Given the description of an element on the screen output the (x, y) to click on. 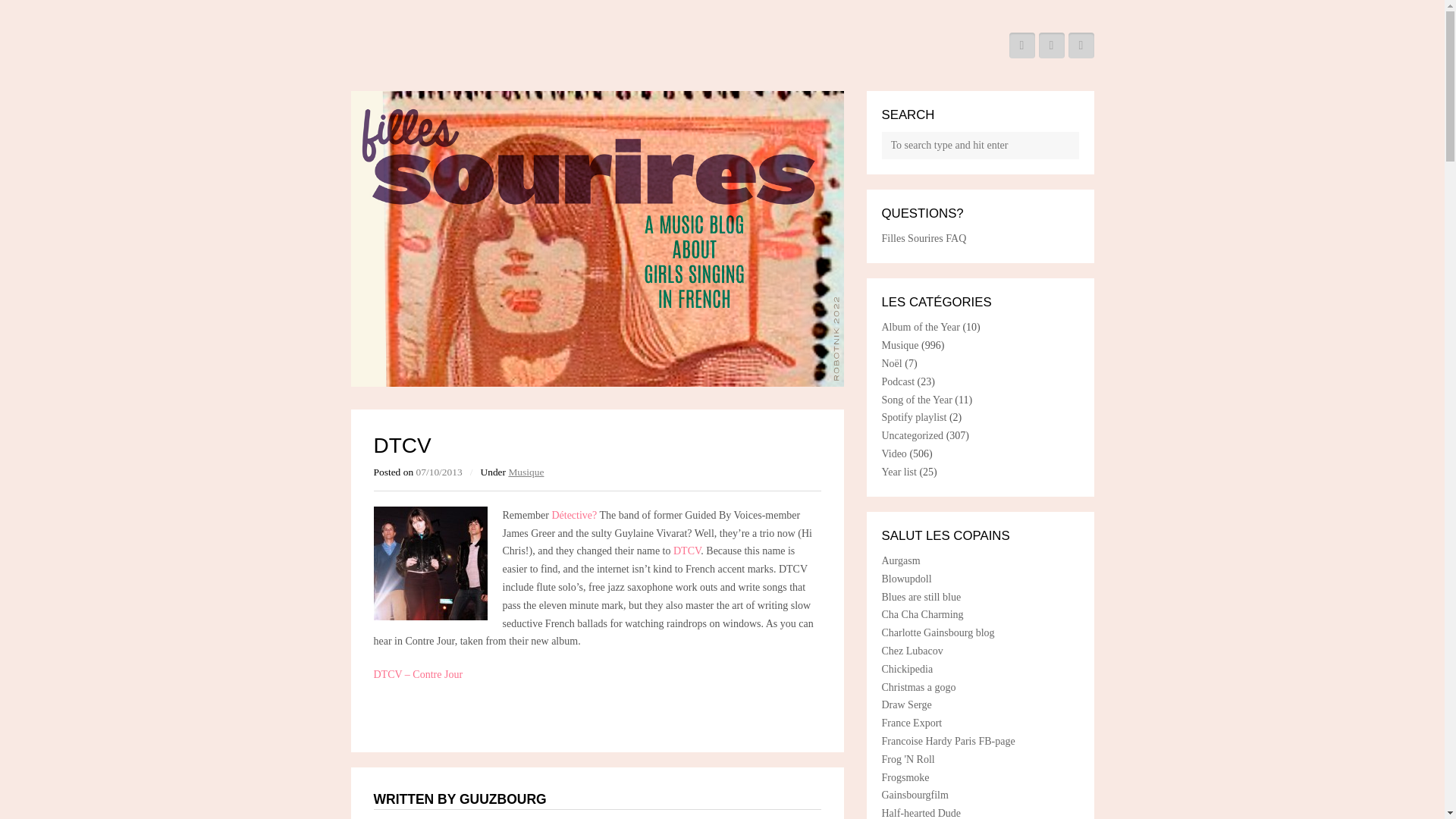
Best blog about France ever (904, 777)
Excellent blog about the nooks and crannies of pop (920, 813)
Music blog by a close friend (911, 650)
Year list (897, 471)
Blowupdoll (905, 578)
Spotify playlist (913, 417)
DTCV (684, 550)
Filles Sourires FAQ (923, 238)
